Given the description of an element on the screen output the (x, y) to click on. 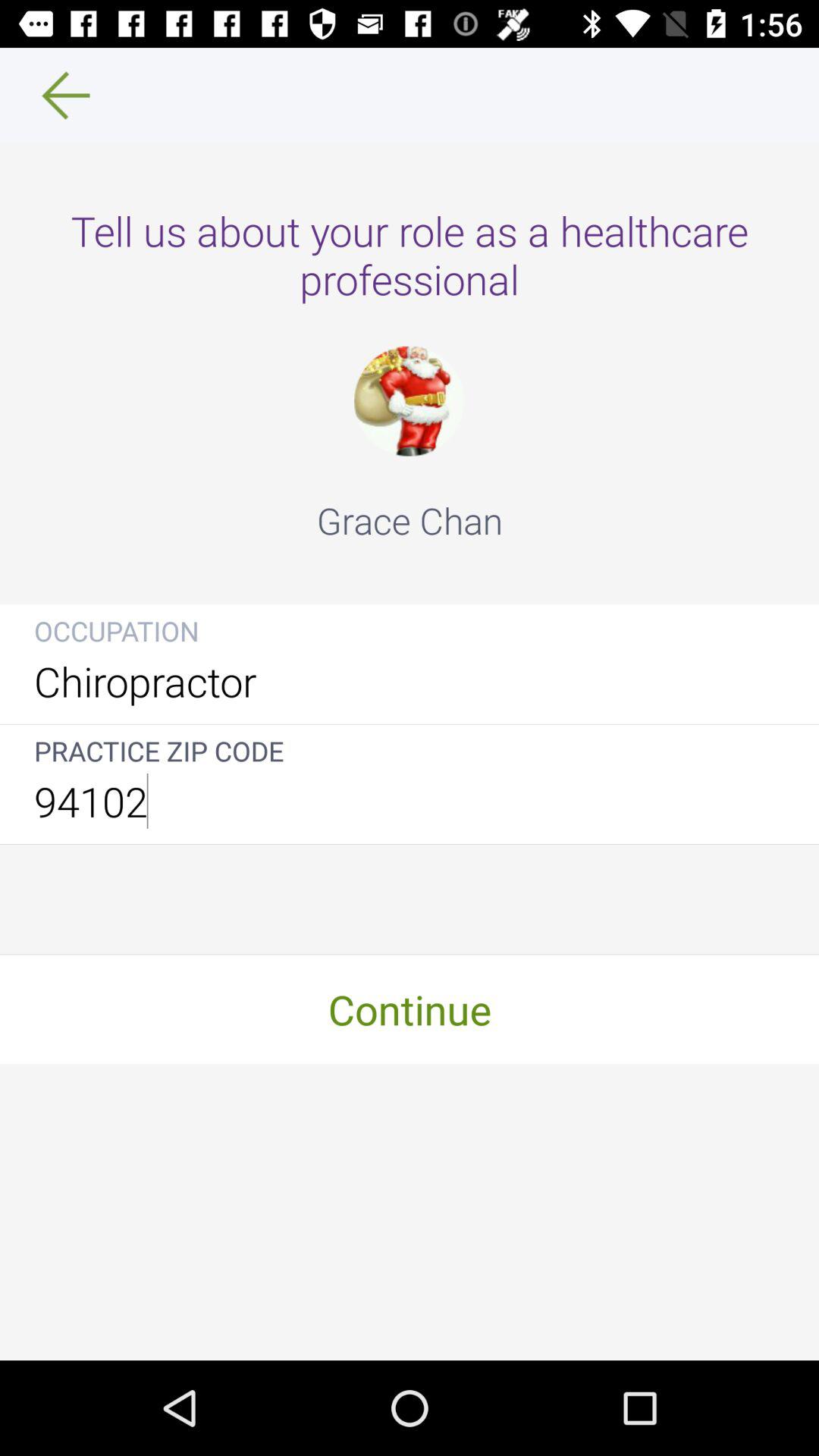
turn off icon below tell us about (409, 401)
